Given the description of an element on the screen output the (x, y) to click on. 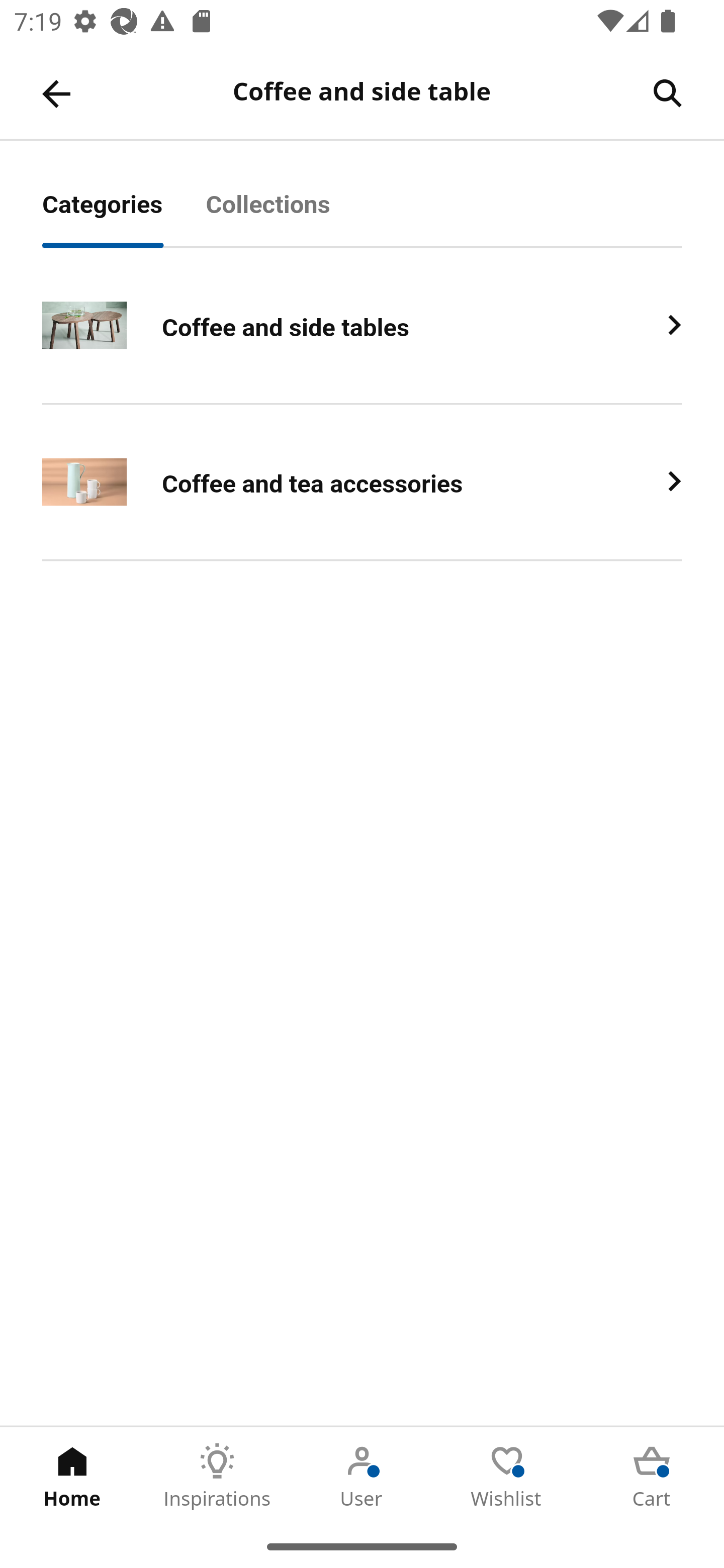
Categories
Tab 1 of 2 (123, 215)
Collections
Tab 2 of 2 (289, 215)
Coffee and side tables (361, 325)
Coffee and tea accessories (361, 482)
Home
Tab 1 of 5 (72, 1476)
Inspirations
Tab 2 of 5 (216, 1476)
User
Tab 3 of 5 (361, 1476)
Wishlist
Tab 4 of 5 (506, 1476)
Cart
Tab 5 of 5 (651, 1476)
